Given the description of an element on the screen output the (x, y) to click on. 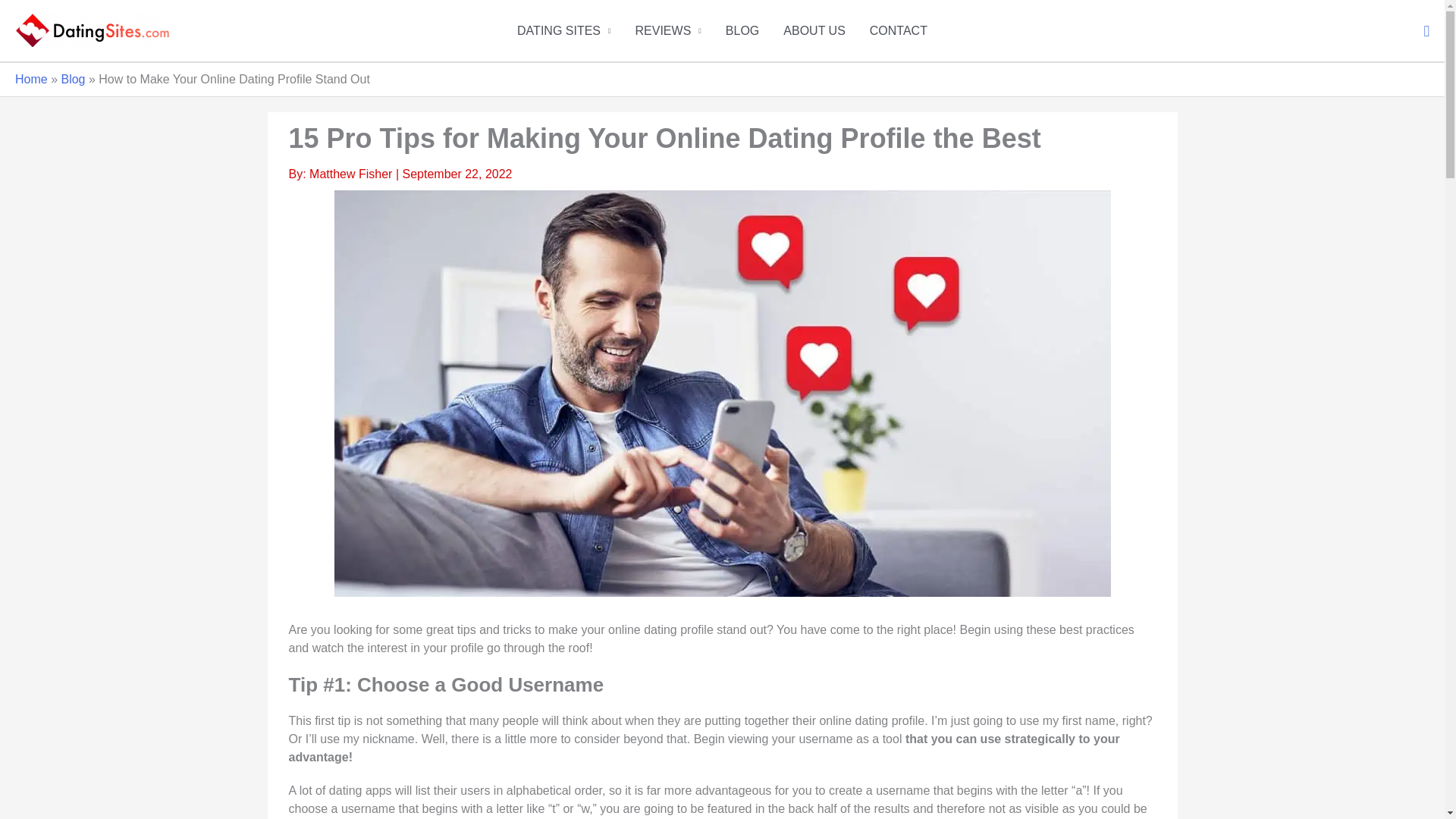
REVIEWS (668, 30)
CONTACT (898, 30)
BLOG (742, 30)
View all posts by Matthew Fisher (352, 173)
DATING SITES (564, 30)
ABOUT US (814, 30)
